Given the description of an element on the screen output the (x, y) to click on. 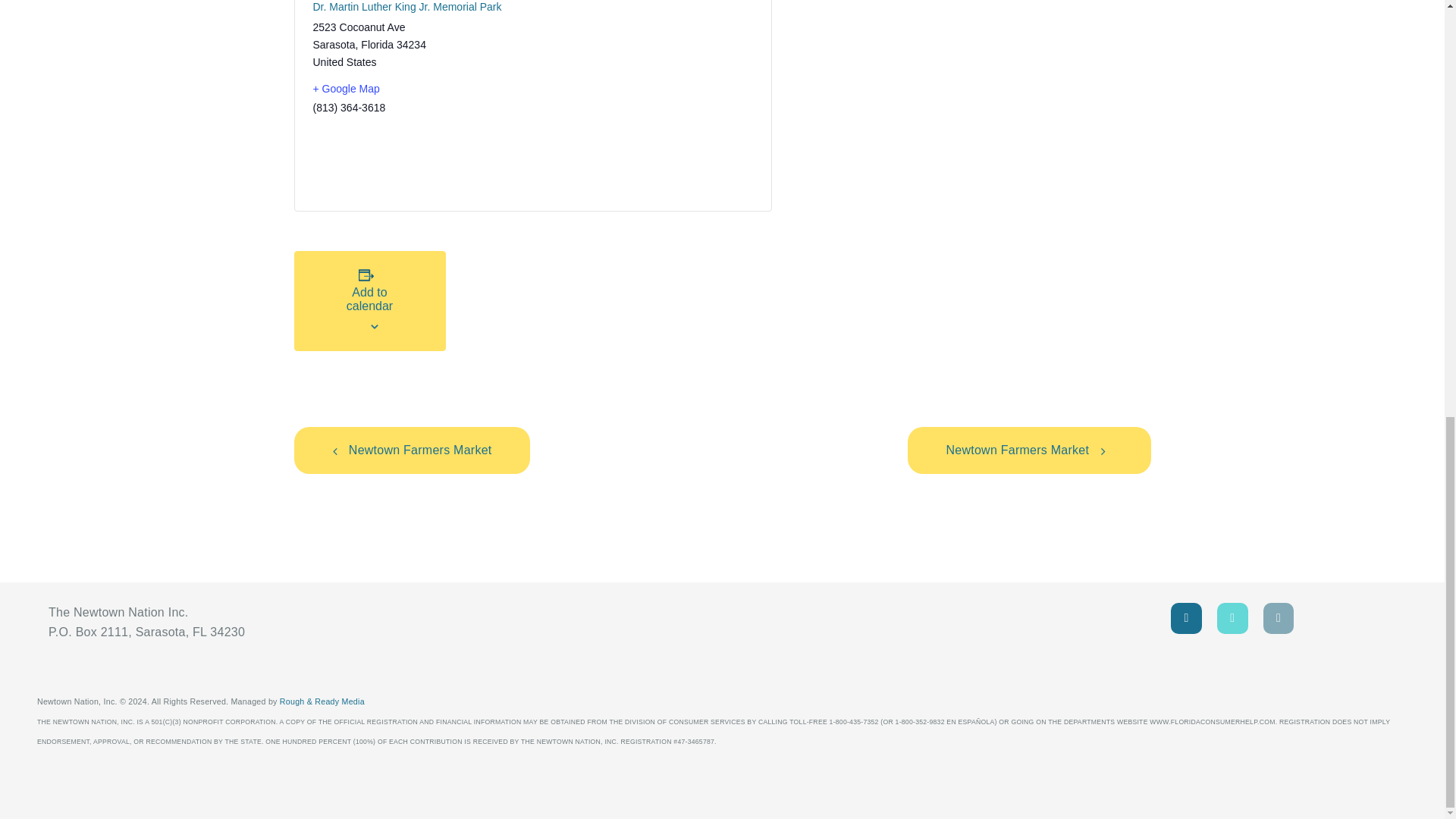
Click to view a Google Map (416, 88)
Florida (377, 44)
Dr. Martin Luther King Jr. Memorial Park (416, 7)
